Given the description of an element on the screen output the (x, y) to click on. 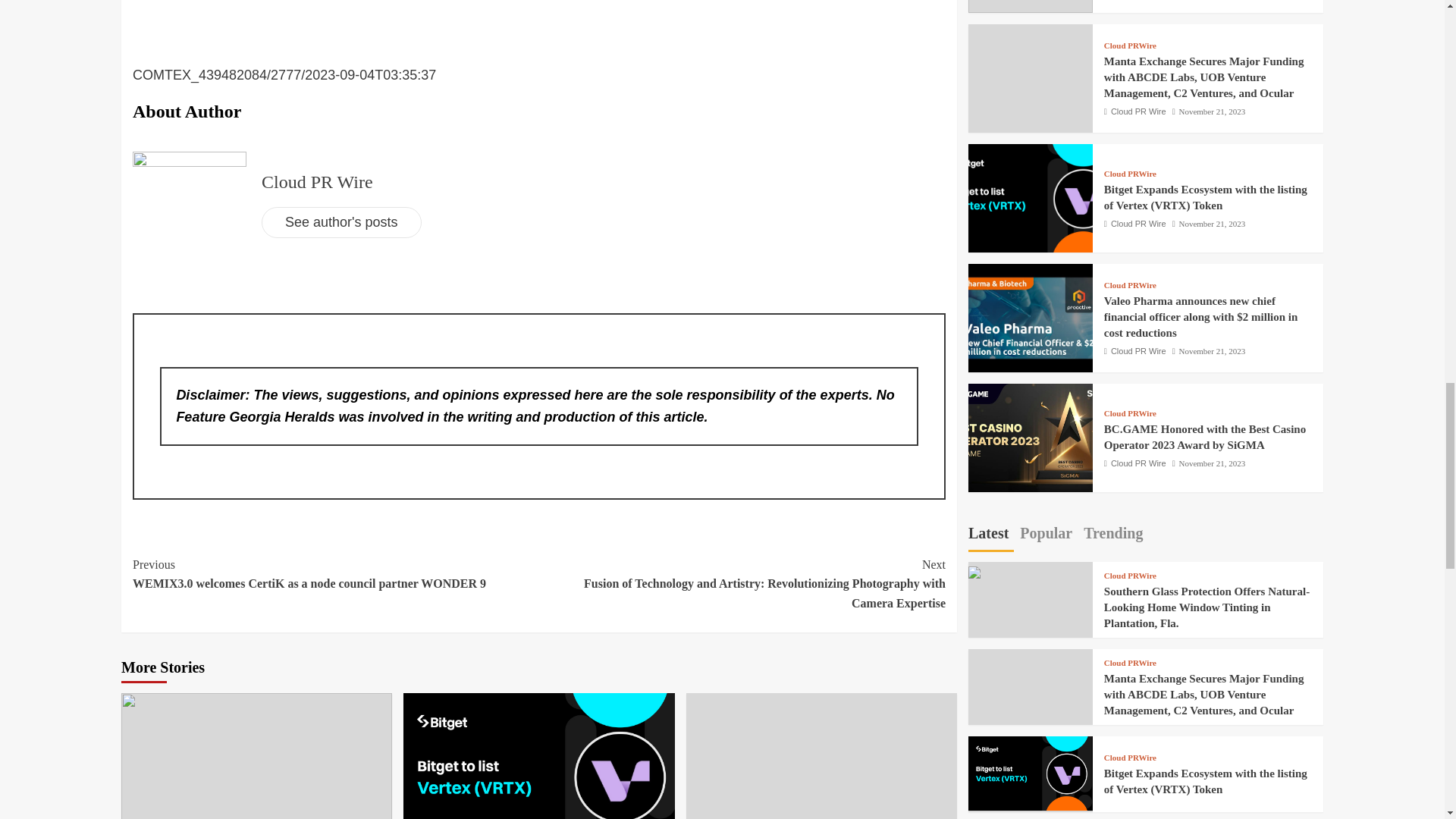
Cloud PR Wire (317, 181)
See author's posts (342, 222)
